Given the description of an element on the screen output the (x, y) to click on. 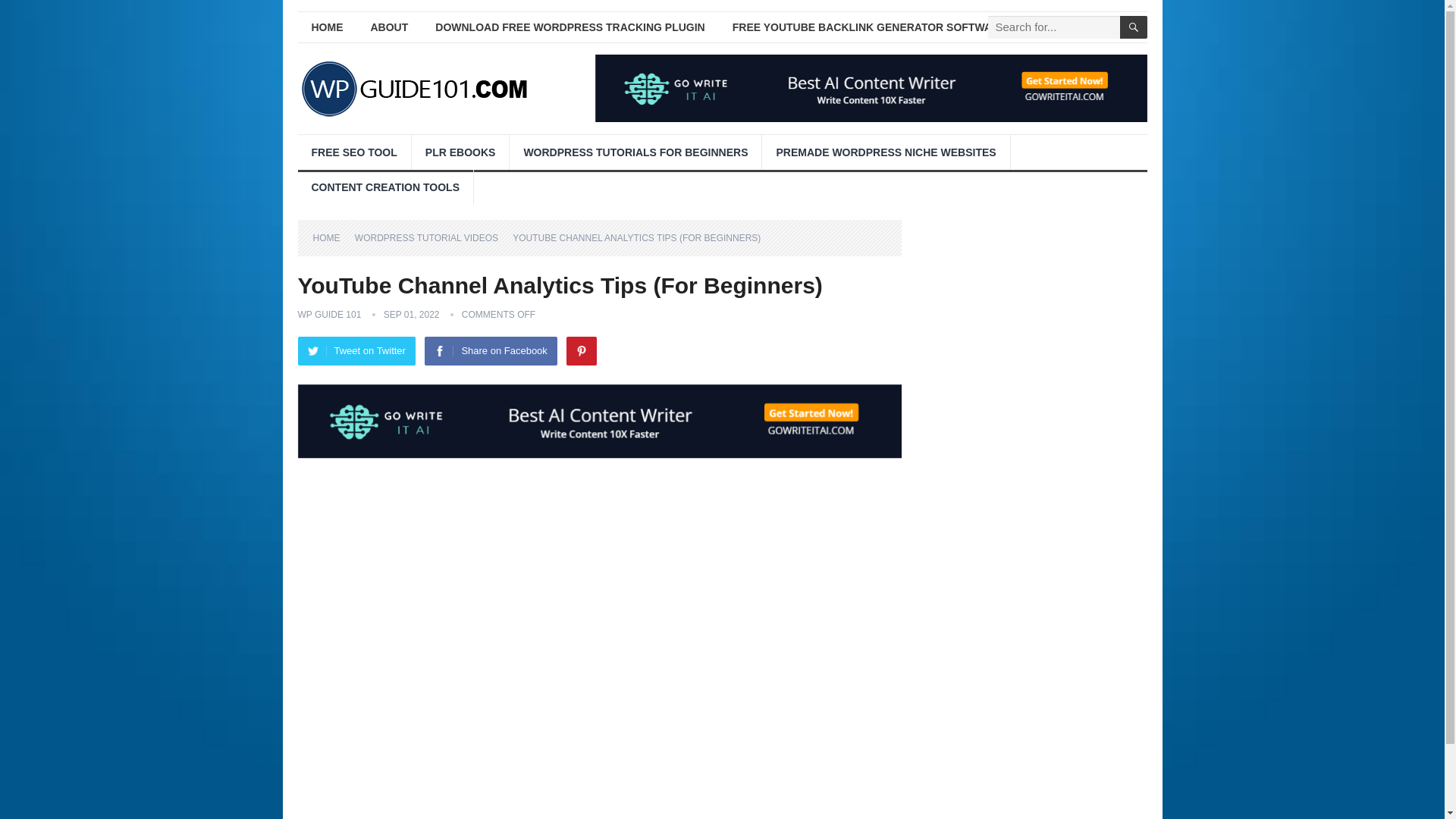
WP GUIDE 101 (329, 314)
View all posts in WordPress Tutorial Videos (431, 237)
Pinterest (581, 350)
CONTENT CREATION TOOLS (384, 186)
PREMADE WORDPRESS NICHE WEBSITES (885, 152)
WORDPRESS TUTORIAL VIDEOS (431, 237)
ABOUT (389, 27)
FREE YOUTUBE BACKLINK GENERATOR SOFTWARE (869, 27)
DOWNLOAD FREE WORDPRESS TRACKING PLUGIN (569, 27)
FREE SEO TOOL (353, 152)
